Given the description of an element on the screen output the (x, y) to click on. 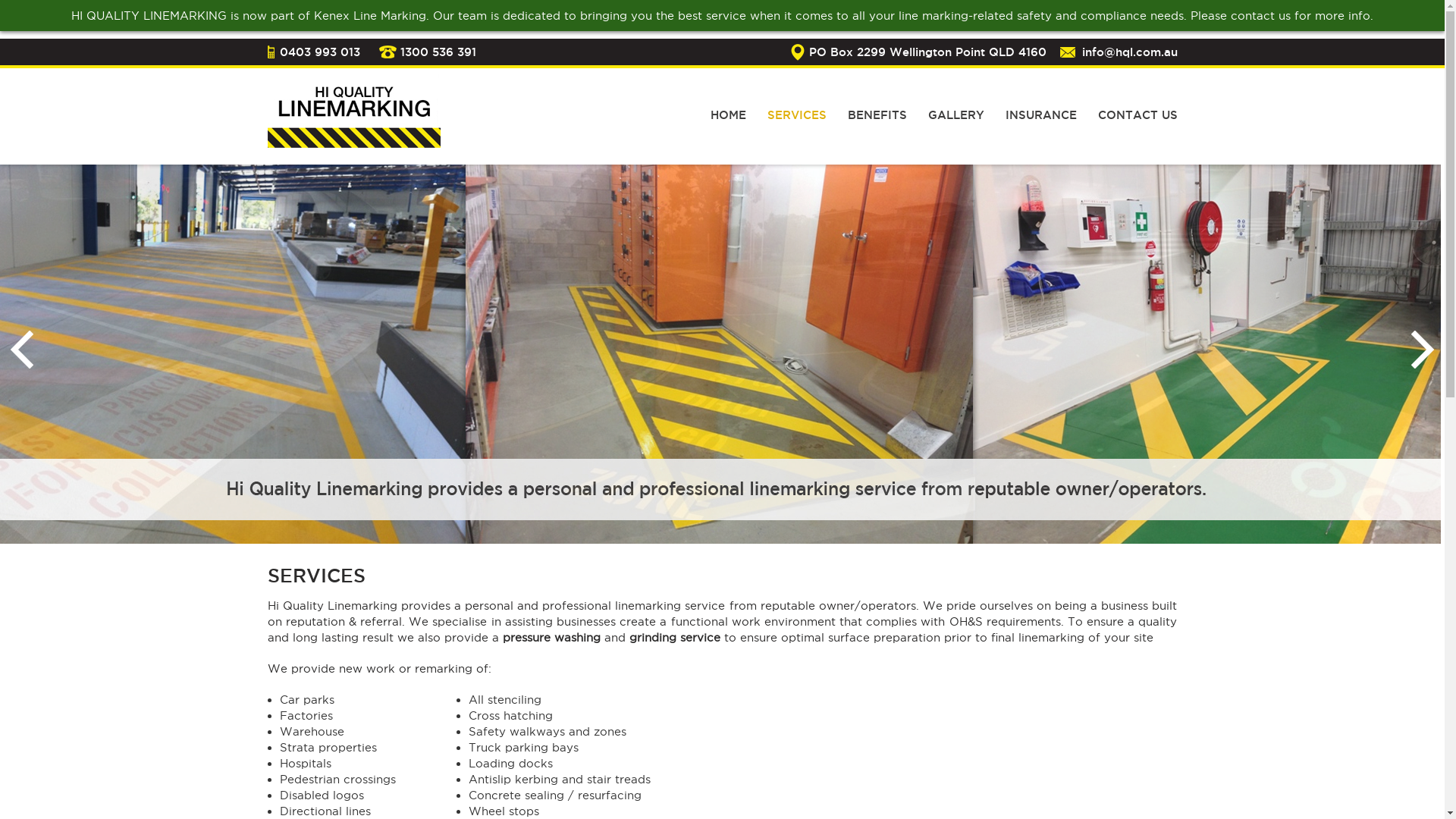
SERVICES Element type: text (796, 122)
info@hql.com.au Element type: text (1128, 51)
CONTACT US Element type: text (1137, 122)
INSURANCE Element type: text (1040, 122)
HOME Element type: text (727, 122)
BENEFITS Element type: text (876, 122)
GALLERY Element type: text (956, 122)
